Given the description of an element on the screen output the (x, y) to click on. 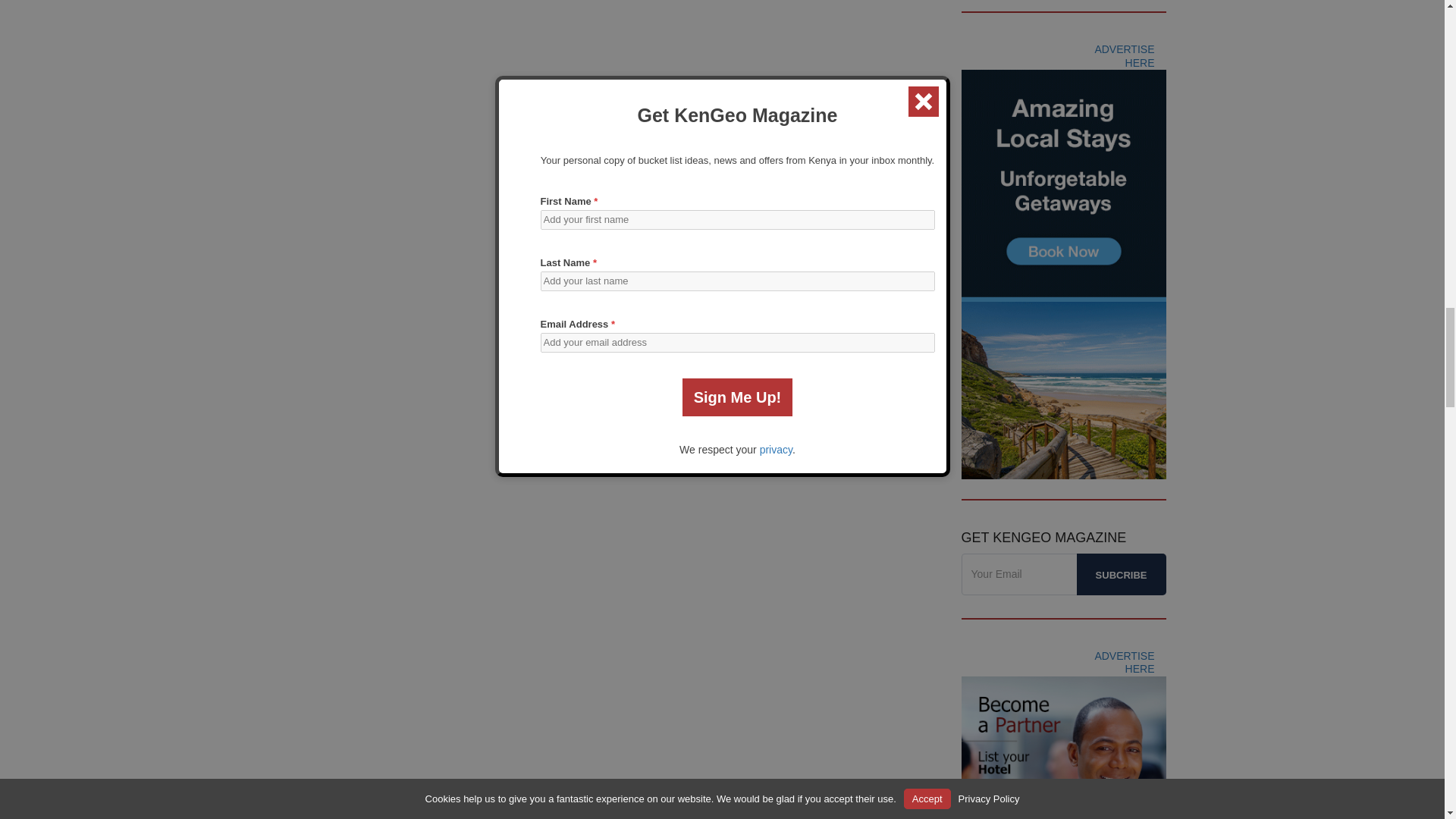
Subcribe (1121, 574)
